Given the description of an element on the screen output the (x, y) to click on. 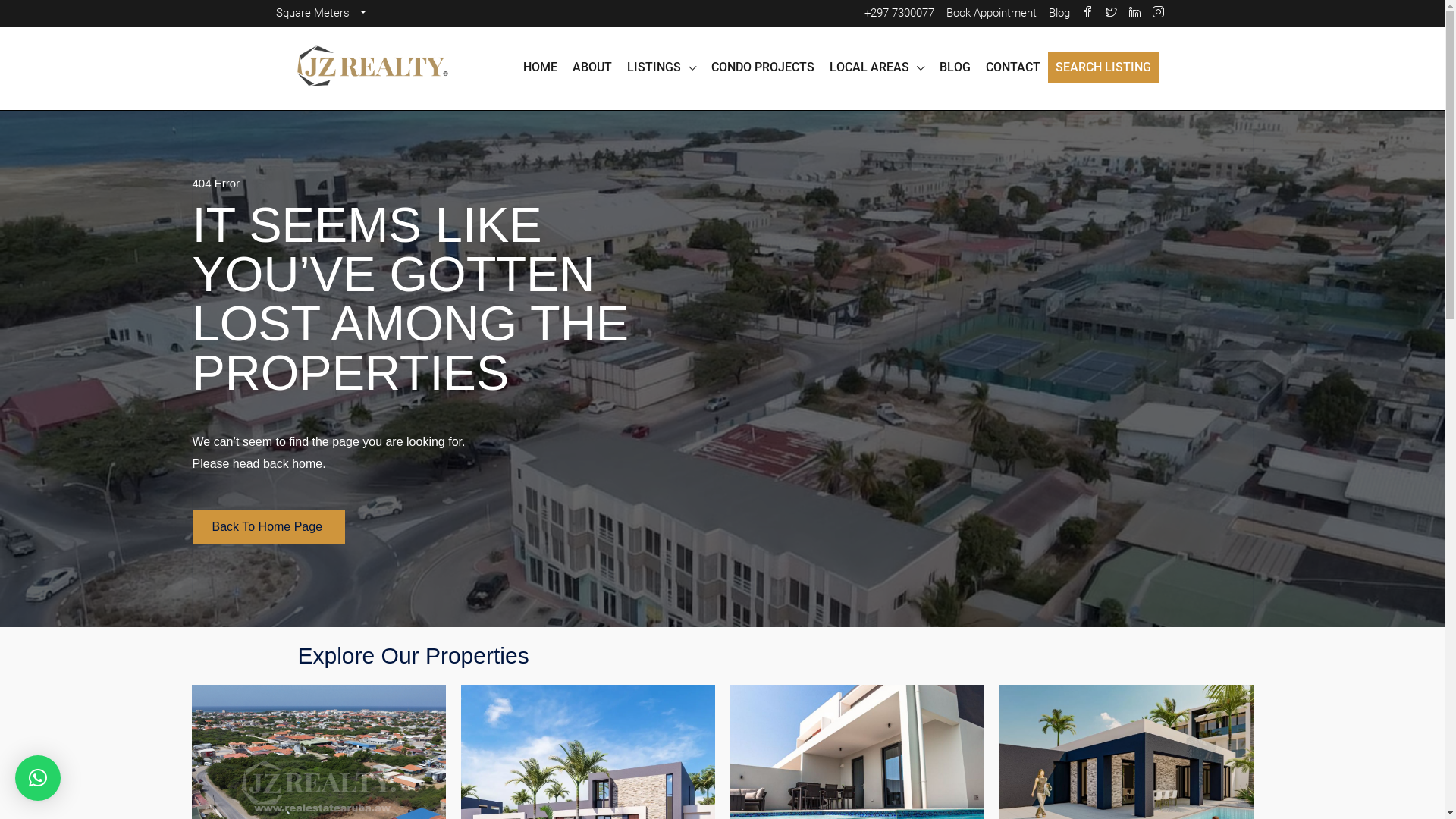
Back To Home Page Element type: text (268, 526)
ABOUT Element type: text (591, 67)
CONDO PROJECTS Element type: text (762, 67)
SEARCH LISTING Element type: text (1103, 67)
Blog Element type: text (1058, 13)
BLOG Element type: text (954, 67)
CONTACT Element type: text (1013, 67)
Square Meters Element type: text (320, 13)
LOCAL AREAS Element type: text (876, 67)
+297 7300077 Element type: text (899, 13)
HOME Element type: text (539, 67)
Book Appointment Element type: text (991, 13)
LISTINGS Element type: text (660, 67)
